Given the description of an element on the screen output the (x, y) to click on. 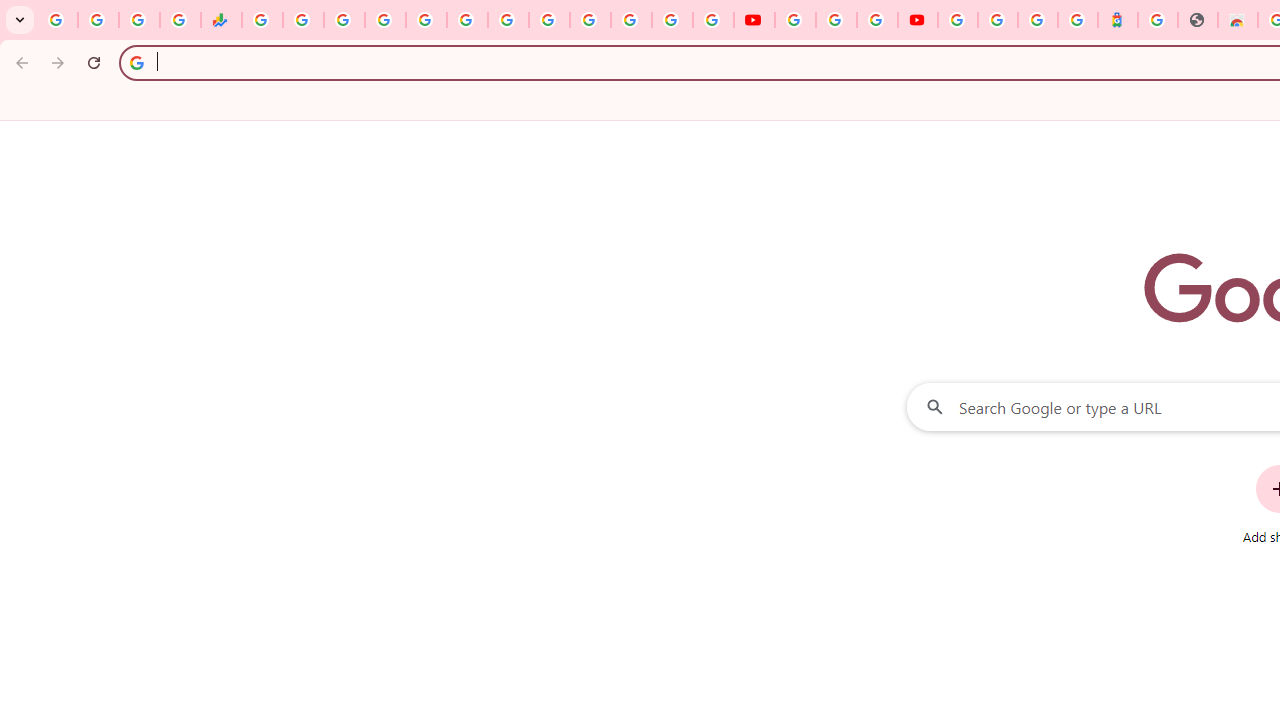
Sign in - Google Accounts (384, 20)
Atour Hotel - Google hotels (1117, 20)
YouTube (795, 20)
YouTube (753, 20)
Chrome Web Store - Household (1238, 20)
Sign in - Google Accounts (997, 20)
Sign in - Google Accounts (671, 20)
Android TV Policies and Guidelines - Transparency Center (507, 20)
